Given the description of an element on the screen output the (x, y) to click on. 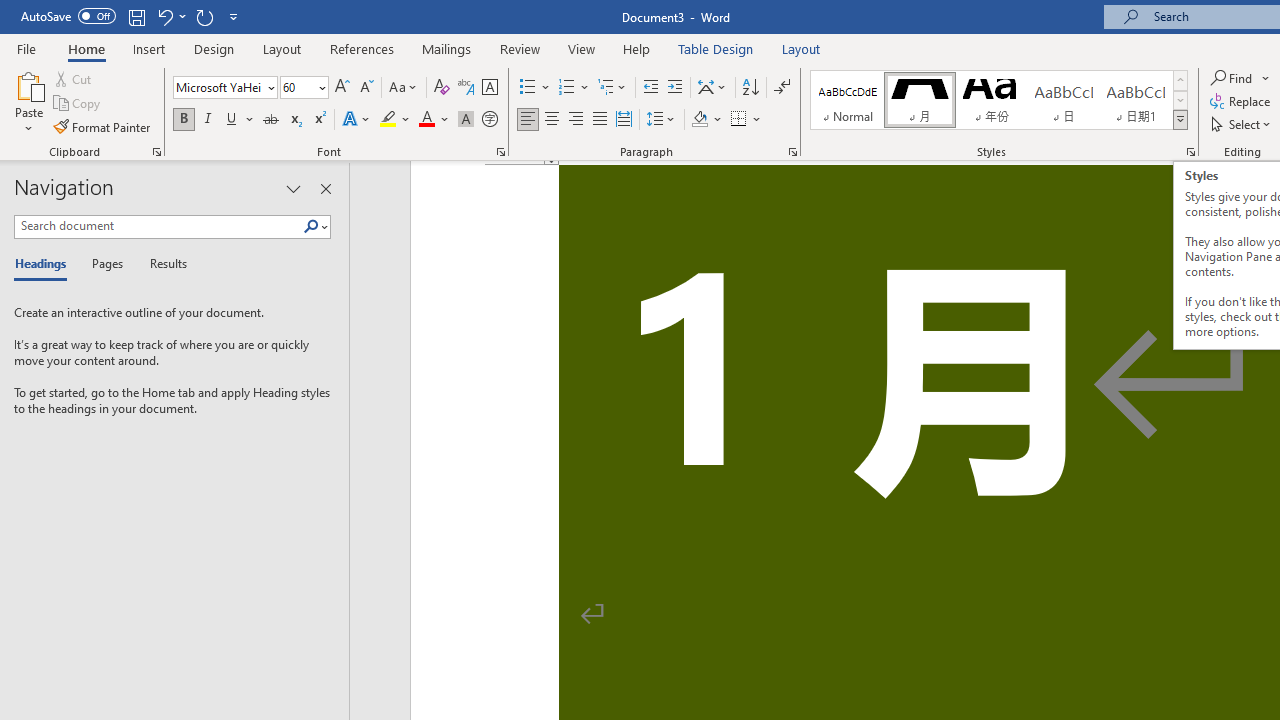
Multilevel List (613, 87)
Layout (801, 48)
Clear Formatting (442, 87)
Save (136, 15)
Shading (706, 119)
System (10, 11)
Undo Increase Indent (164, 15)
Office Clipboard... (156, 151)
Paste (28, 84)
Font (218, 87)
Show/Hide Editing Marks (781, 87)
Underline (232, 119)
Line and Paragraph Spacing (661, 119)
Character Border (489, 87)
Search document (157, 226)
